Given the description of an element on the screen output the (x, y) to click on. 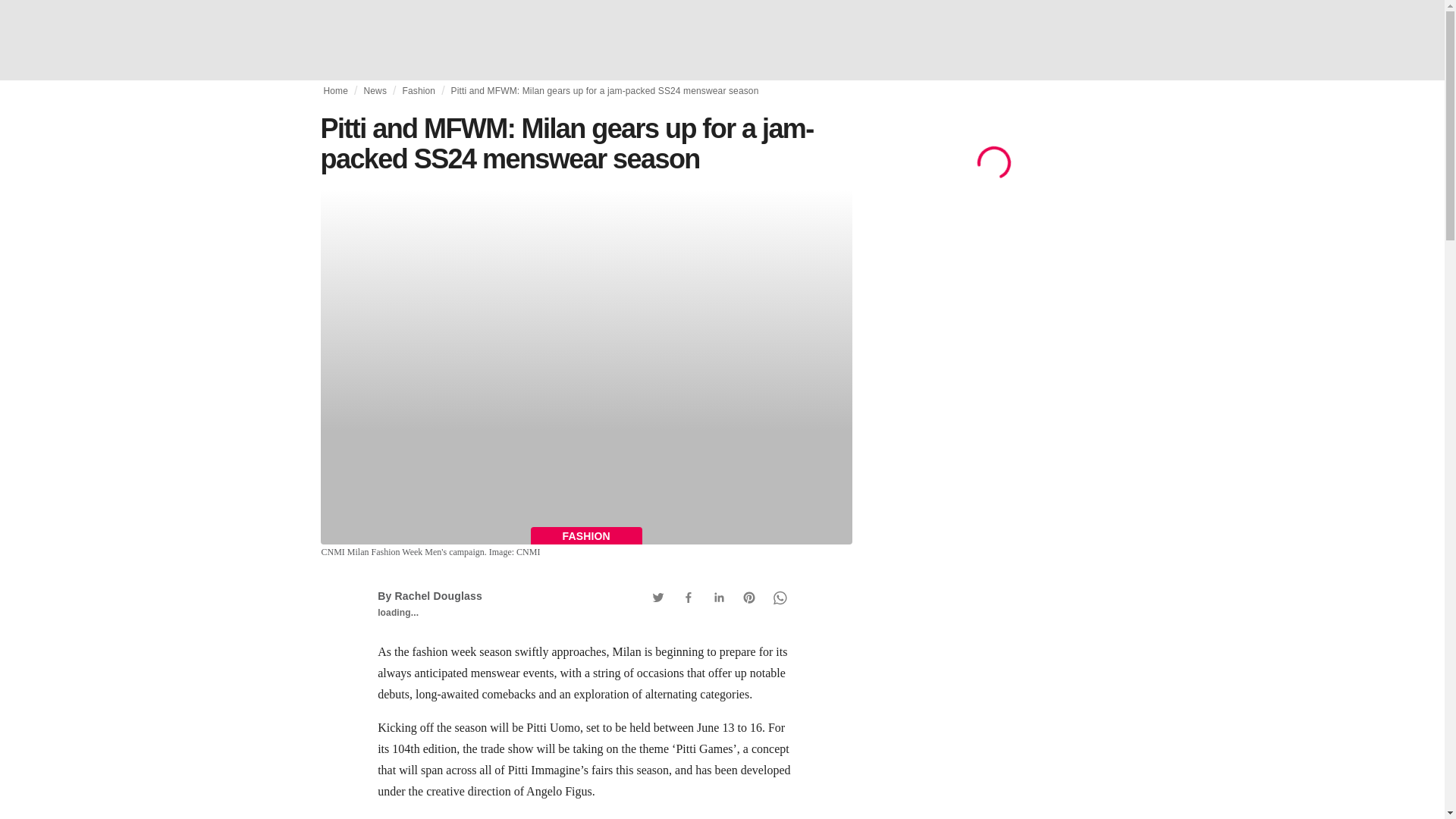
By Rachel Douglass (429, 595)
Fashion (418, 90)
Home (335, 90)
News (375, 90)
